Given the description of an element on the screen output the (x, y) to click on. 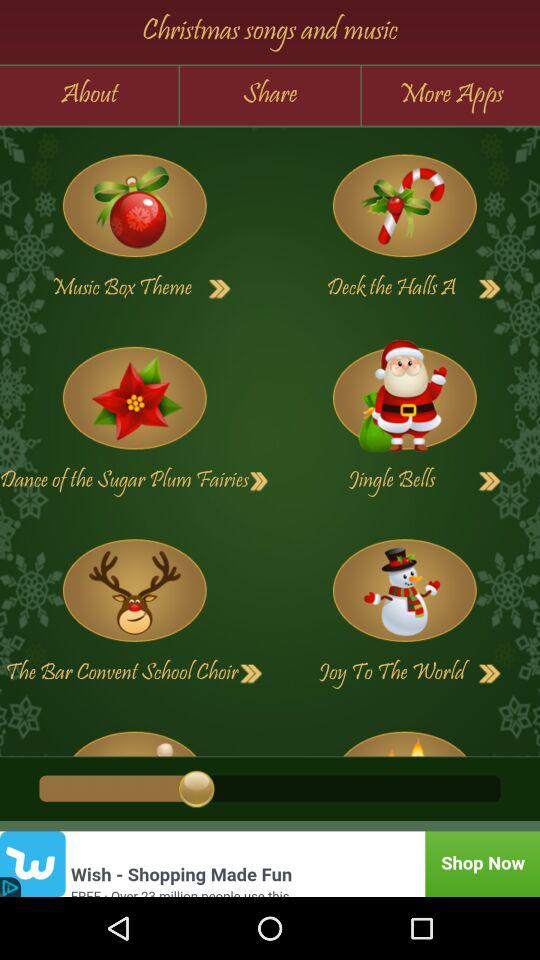
click character to play music (134, 590)
